Given the description of an element on the screen output the (x, y) to click on. 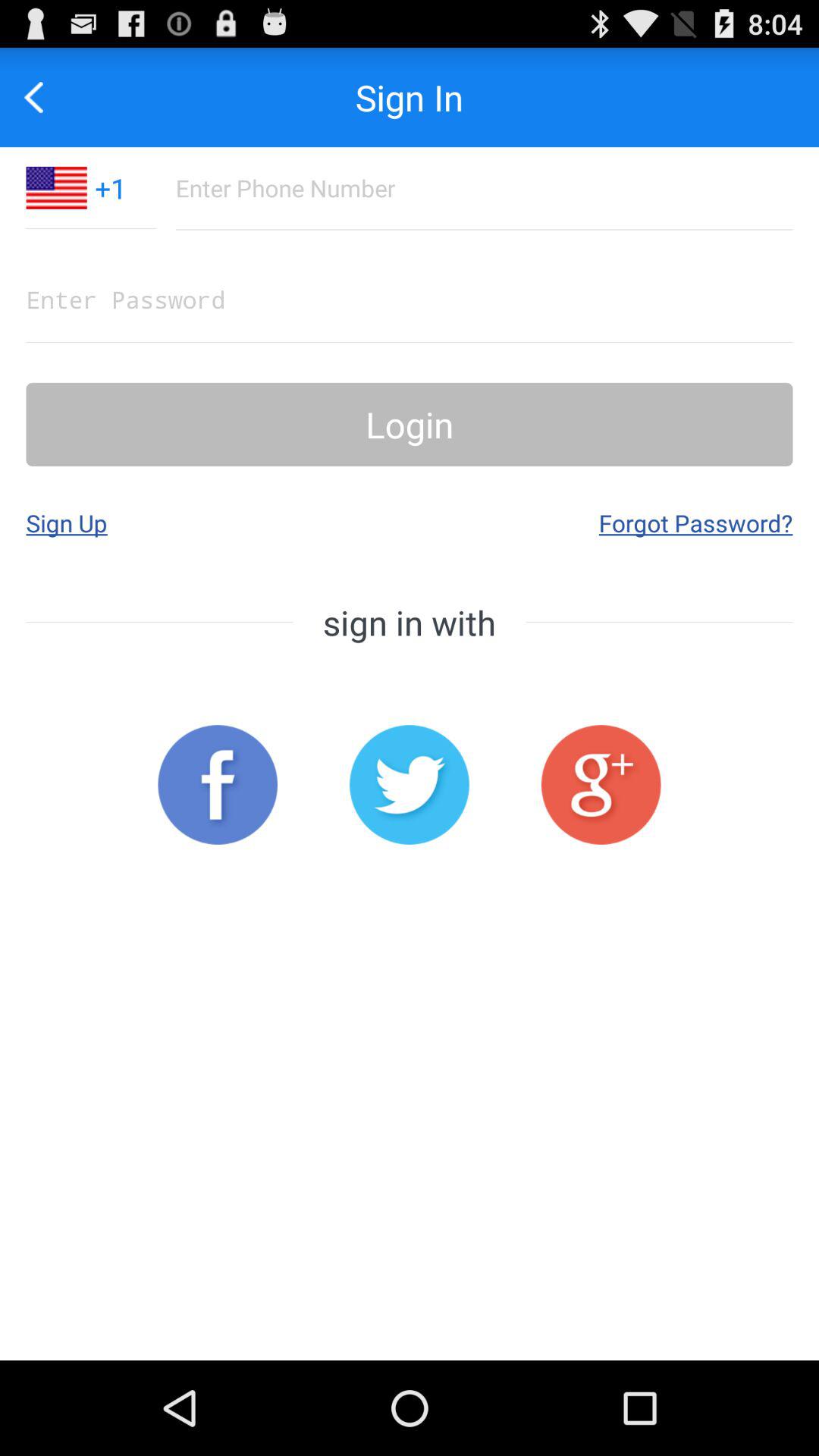
turn on the app next to the +1 item (56, 187)
